Given the description of an element on the screen output the (x, y) to click on. 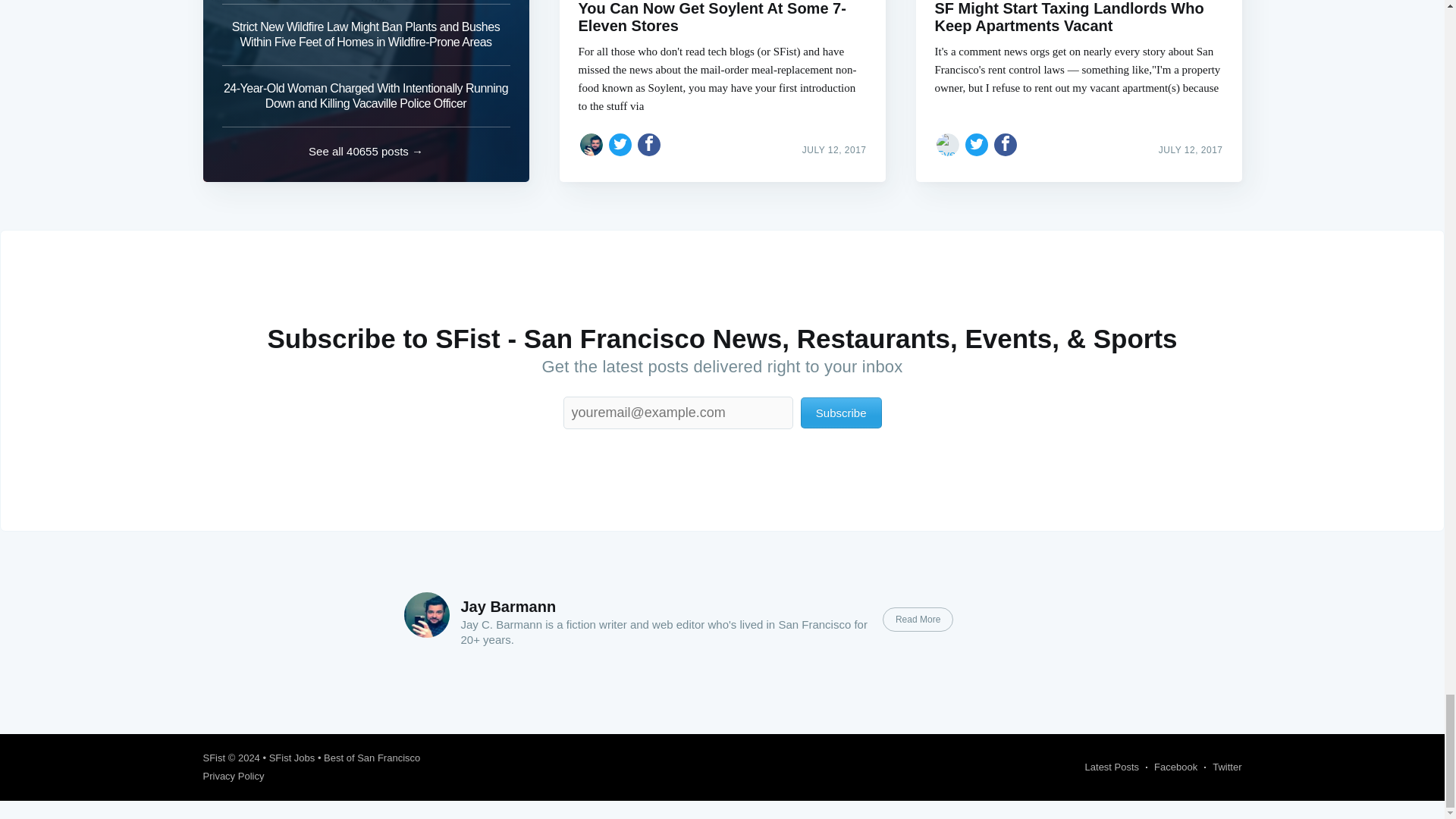
Share on Twitter (976, 144)
Share on Twitter (620, 144)
Share on Facebook (1004, 144)
Share on Facebook (649, 144)
